Given the description of an element on the screen output the (x, y) to click on. 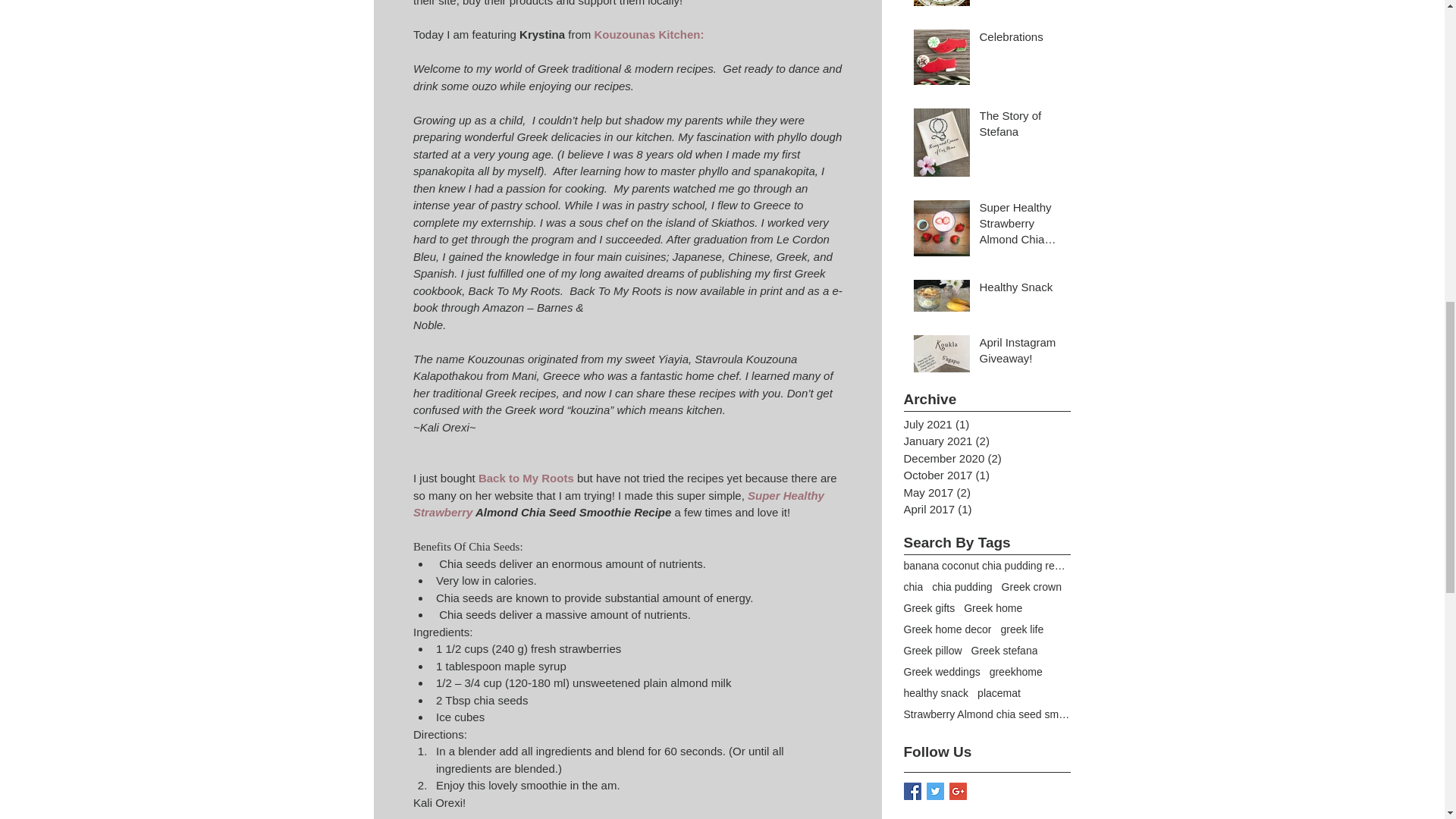
Back to My Roots (525, 477)
Kouzounas Kitchen: (648, 33)
April Instagram Giveaway! (1020, 353)
Super Healthy Strawberry (619, 503)
Healthy Snack (1020, 290)
The Story of Stefana (1020, 126)
Super Healthy Strawberry Almond Chia Seed Smoothie Recipe (1020, 226)
Celebrations (1020, 39)
